Given the description of an element on the screen output the (x, y) to click on. 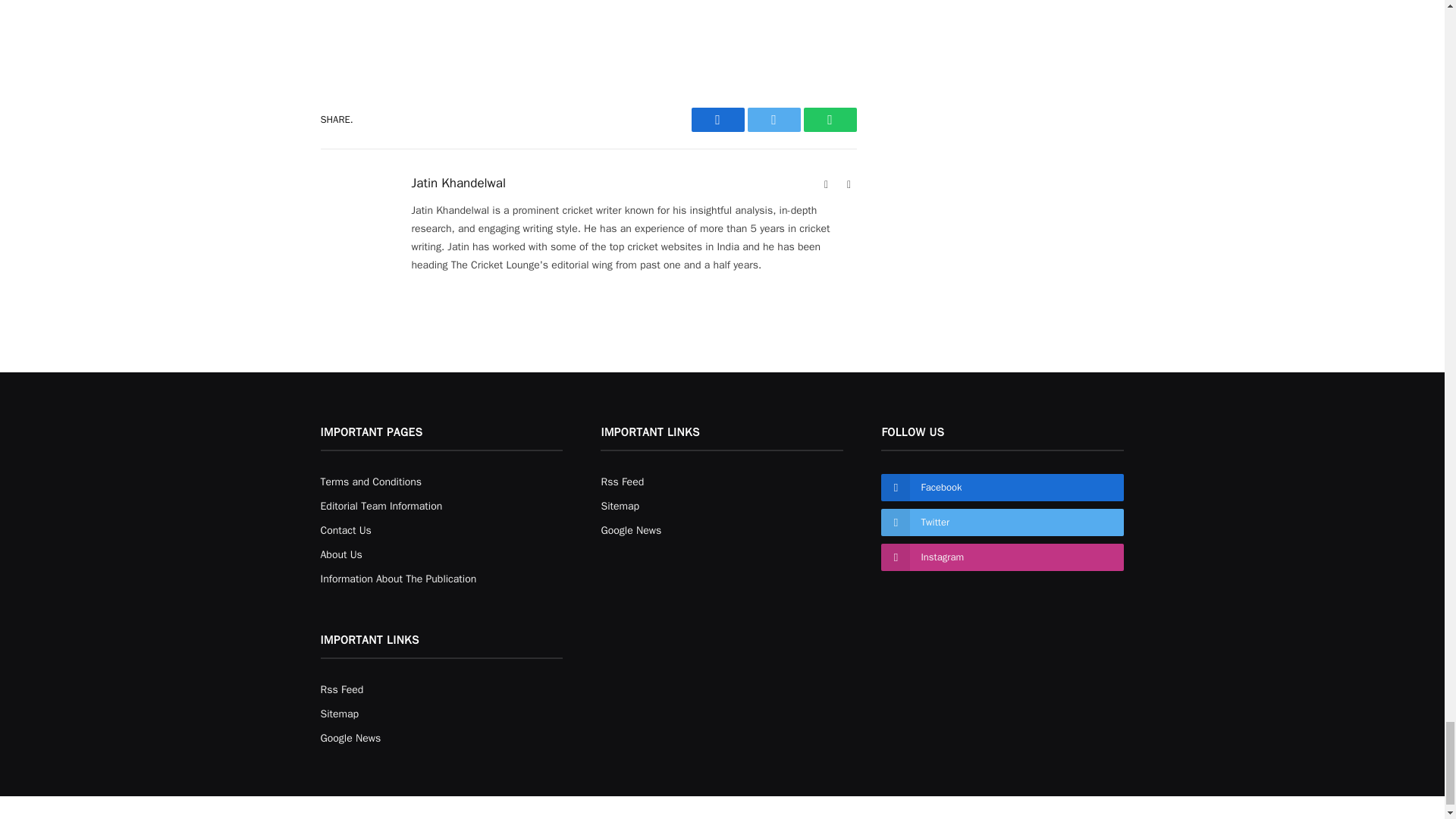
Instagram (849, 184)
Twitter (774, 119)
Posts by Jatin Khandelwal (457, 183)
Share on Facebook (717, 119)
Facebook (717, 119)
Jatin Khandelwal (457, 183)
WhatsApp (830, 119)
Share on WhatsApp (830, 119)
